Given the description of an element on the screen output the (x, y) to click on. 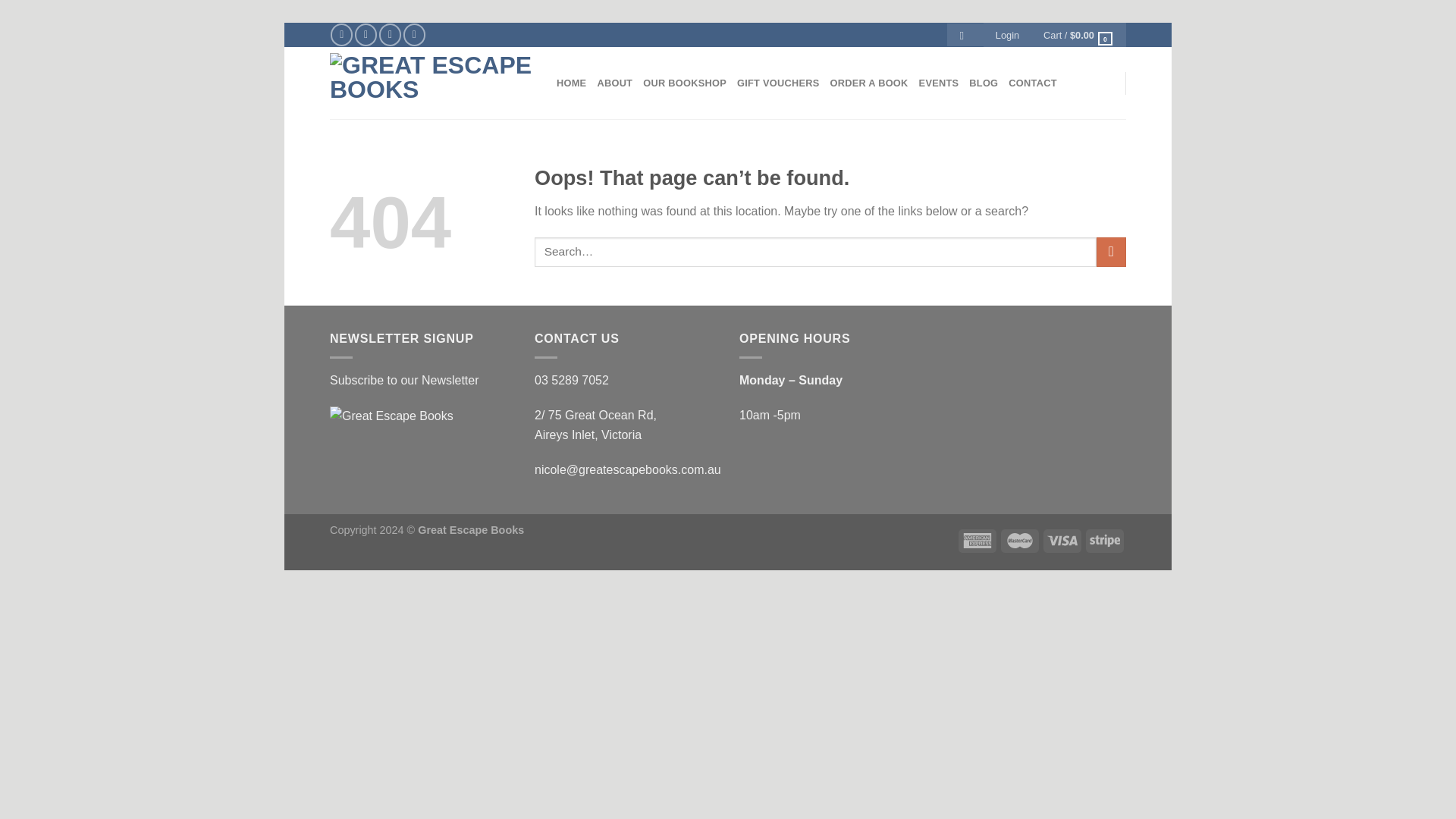
Great Escape Books - Great Ocean Road, Aireys Inlet (432, 83)
HOME (571, 83)
Follow on Instagram (366, 34)
Subscribe to our Newsletter (404, 379)
Follow on Facebook (341, 34)
Send us an email (389, 34)
GIFT VOUCHERS (777, 83)
03 5289 7052 (571, 379)
ABOUT (613, 83)
Call us (414, 34)
OUR BOOKSHOP (684, 83)
